Given the description of an element on the screen output the (x, y) to click on. 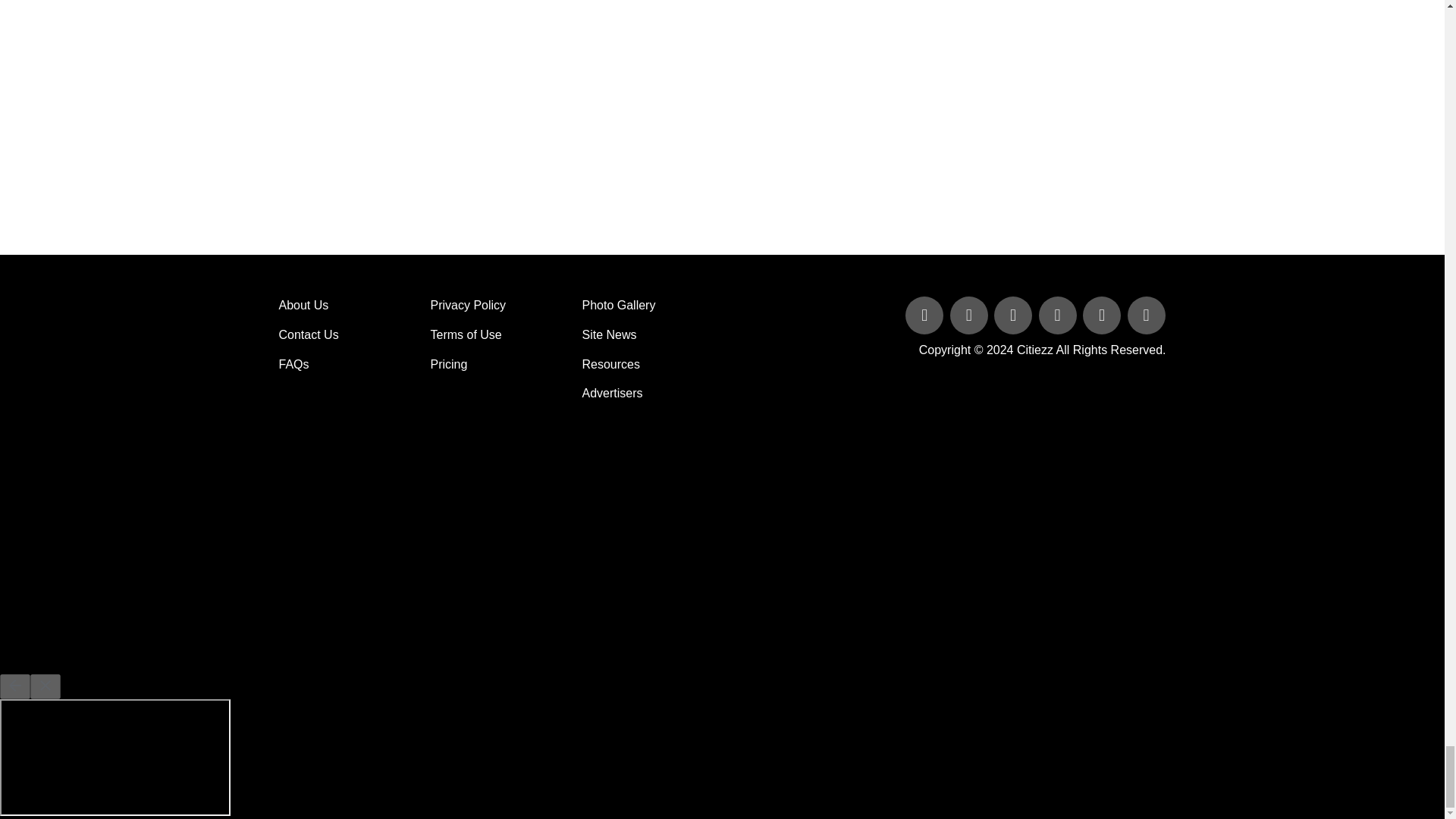
Follow Us on Facebook (925, 316)
Follow Us on Linked In (1014, 316)
Follow Us on Twitter (970, 316)
Follow Us on Pinterest (1103, 316)
Follow Us on Instagram (1145, 316)
Follow Us on You Tube (1058, 316)
